Given the description of an element on the screen output the (x, y) to click on. 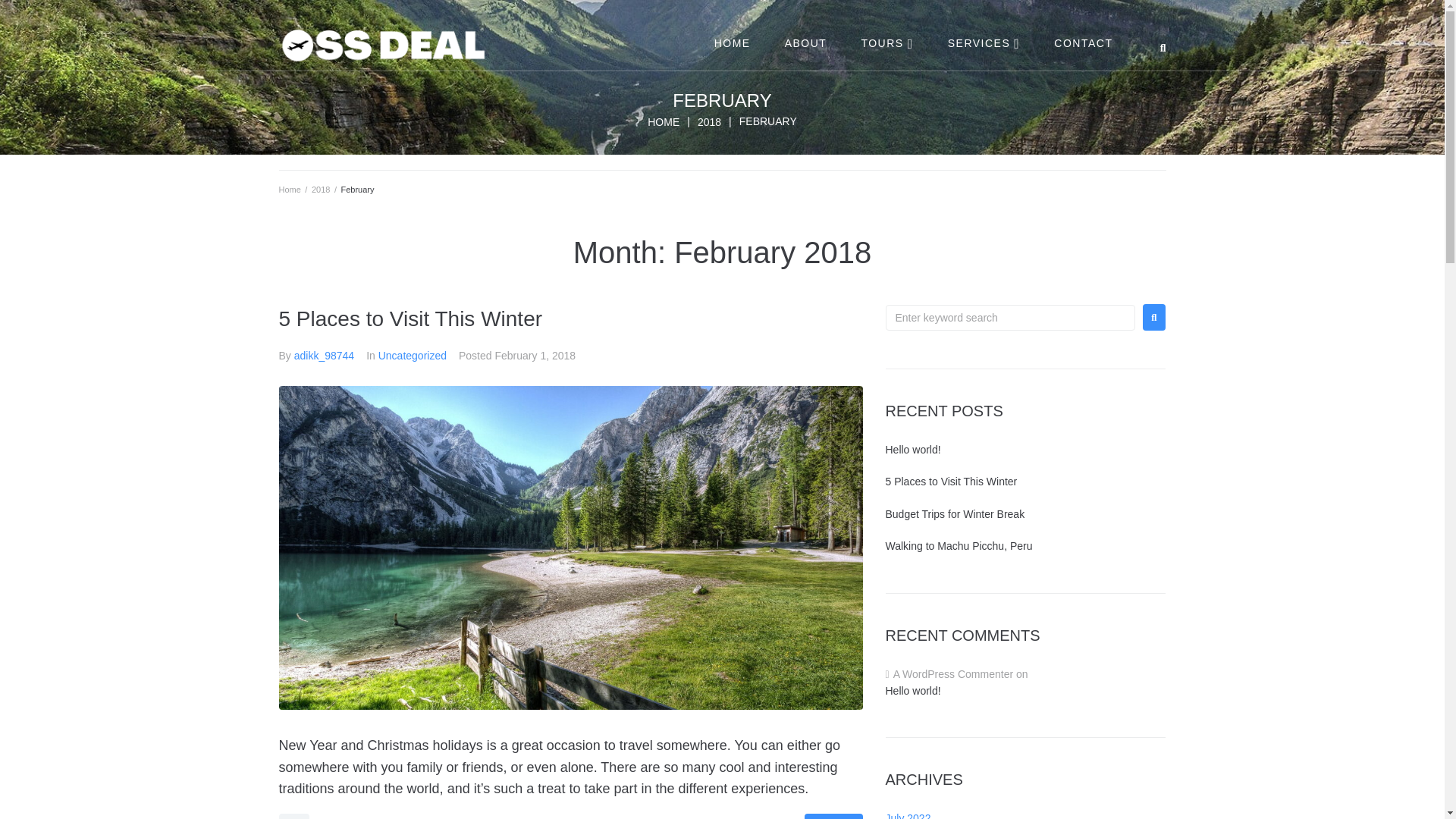
Home (290, 189)
Home (290, 189)
2018 (320, 189)
2018 (320, 189)
0 (293, 816)
5 Places to Visit This Winter (411, 318)
HOME (732, 42)
CONTACT (1082, 42)
2018 (708, 121)
2018 (708, 121)
Home (663, 121)
Uncategorized (412, 355)
MORE (832, 816)
TOURS (885, 42)
ABOUT (805, 42)
